Given the description of an element on the screen output the (x, y) to click on. 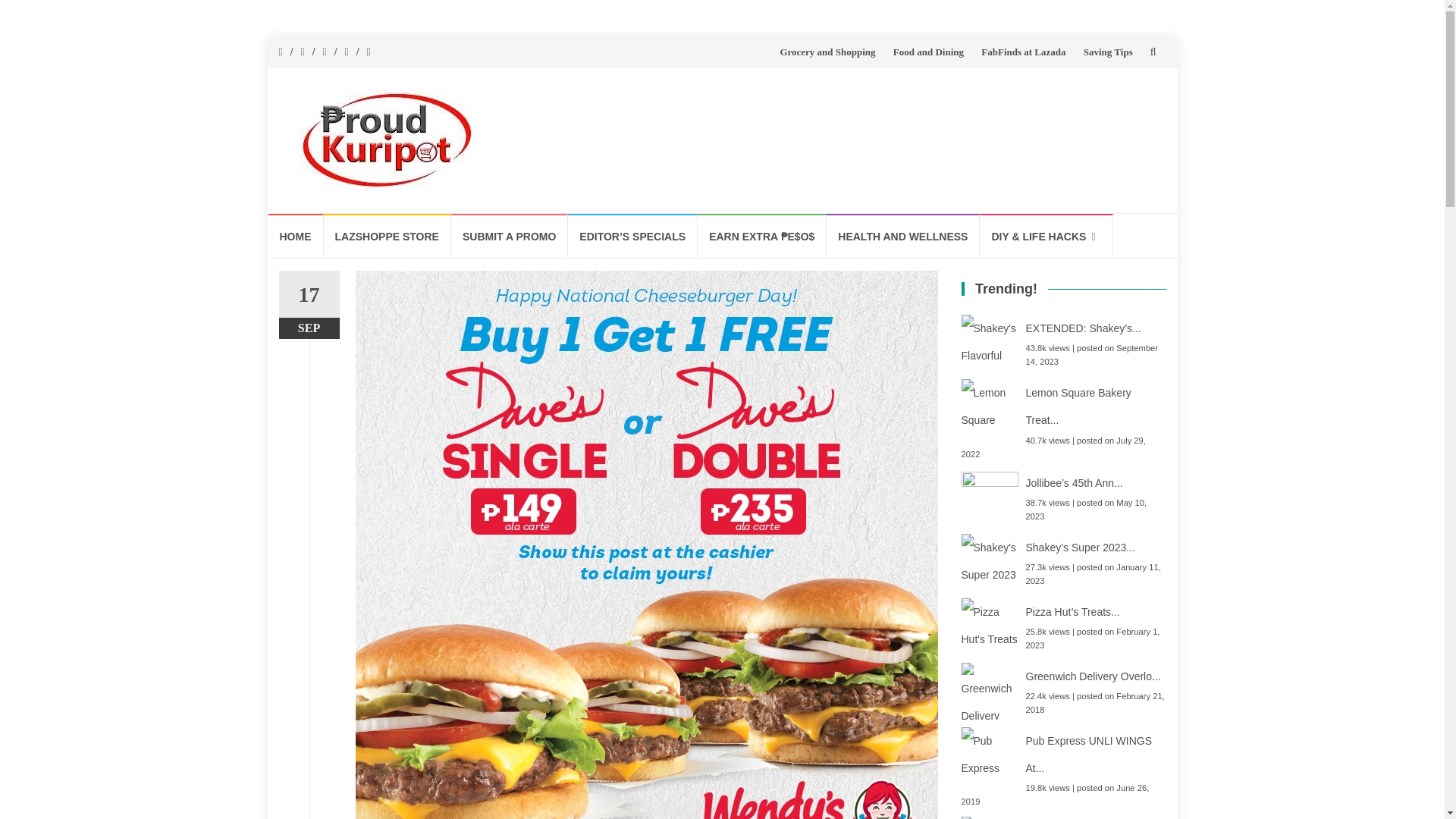
Food and Dining (928, 51)
FabFinds at Lazada (1023, 51)
Grocery and Shopping (826, 51)
HEALTH AND WELLNESS (903, 235)
SUBMIT A PROMO (509, 235)
